Given the description of an element on the screen output the (x, y) to click on. 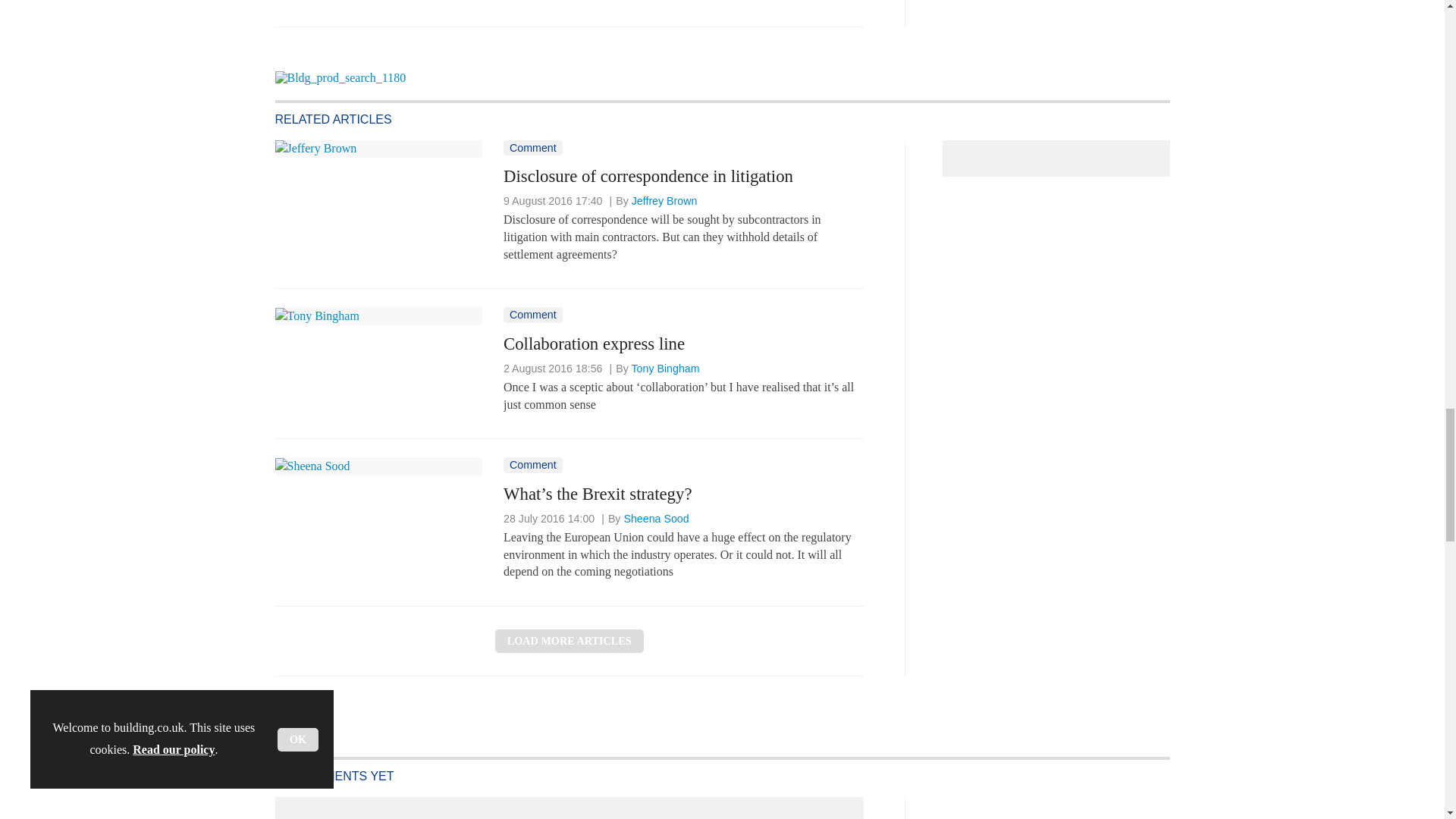
Share this on Facebook (288, 8)
Share this on Linked in (352, 8)
Email this article (386, 8)
Share this on Twitter (320, 8)
No comments (840, 12)
